Given the description of an element on the screen output the (x, y) to click on. 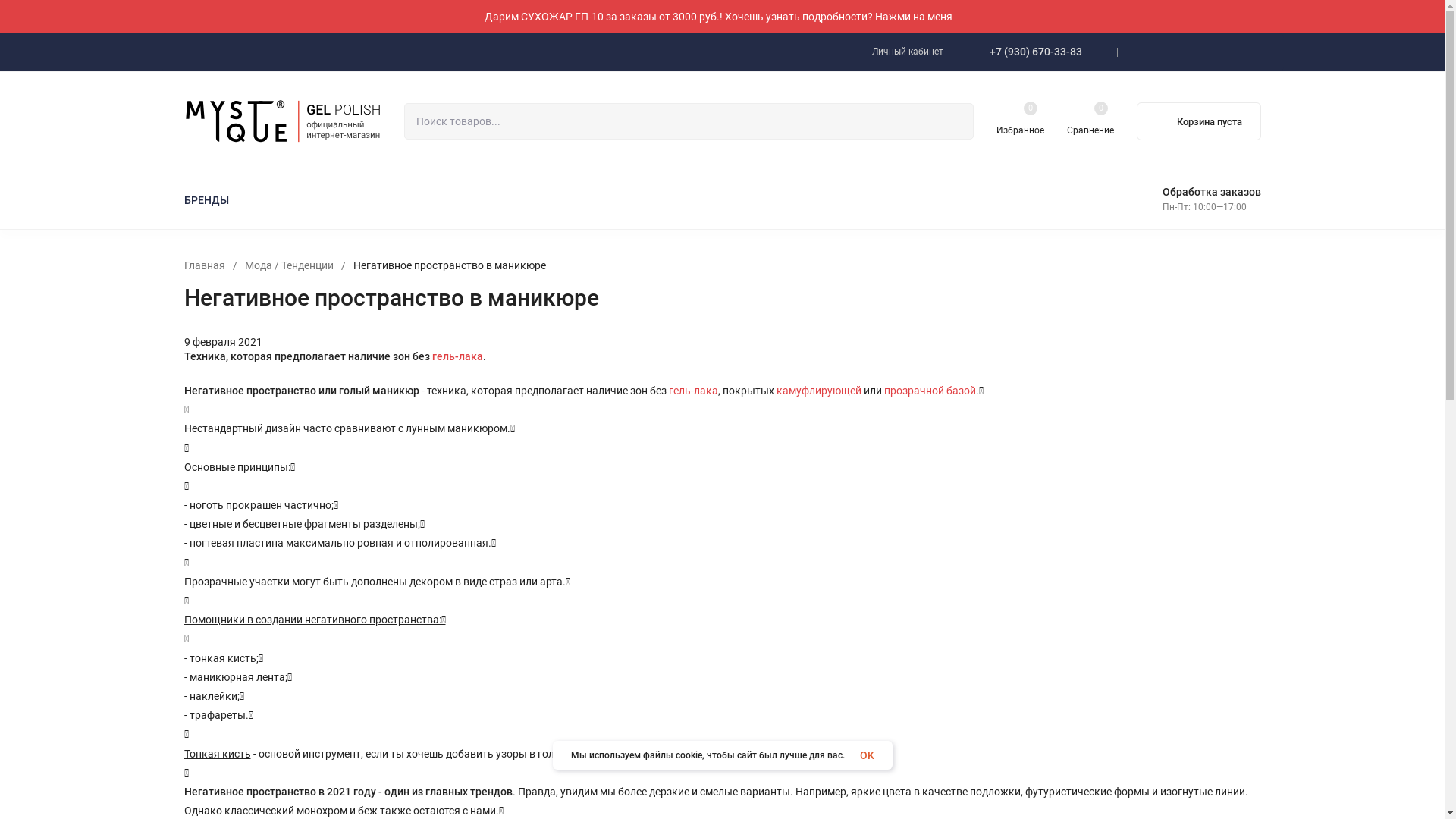
OK Element type: text (866, 754)
+7 (930) 670-33-83 Element type: text (1034, 51)
